Given the description of an element on the screen output the (x, y) to click on. 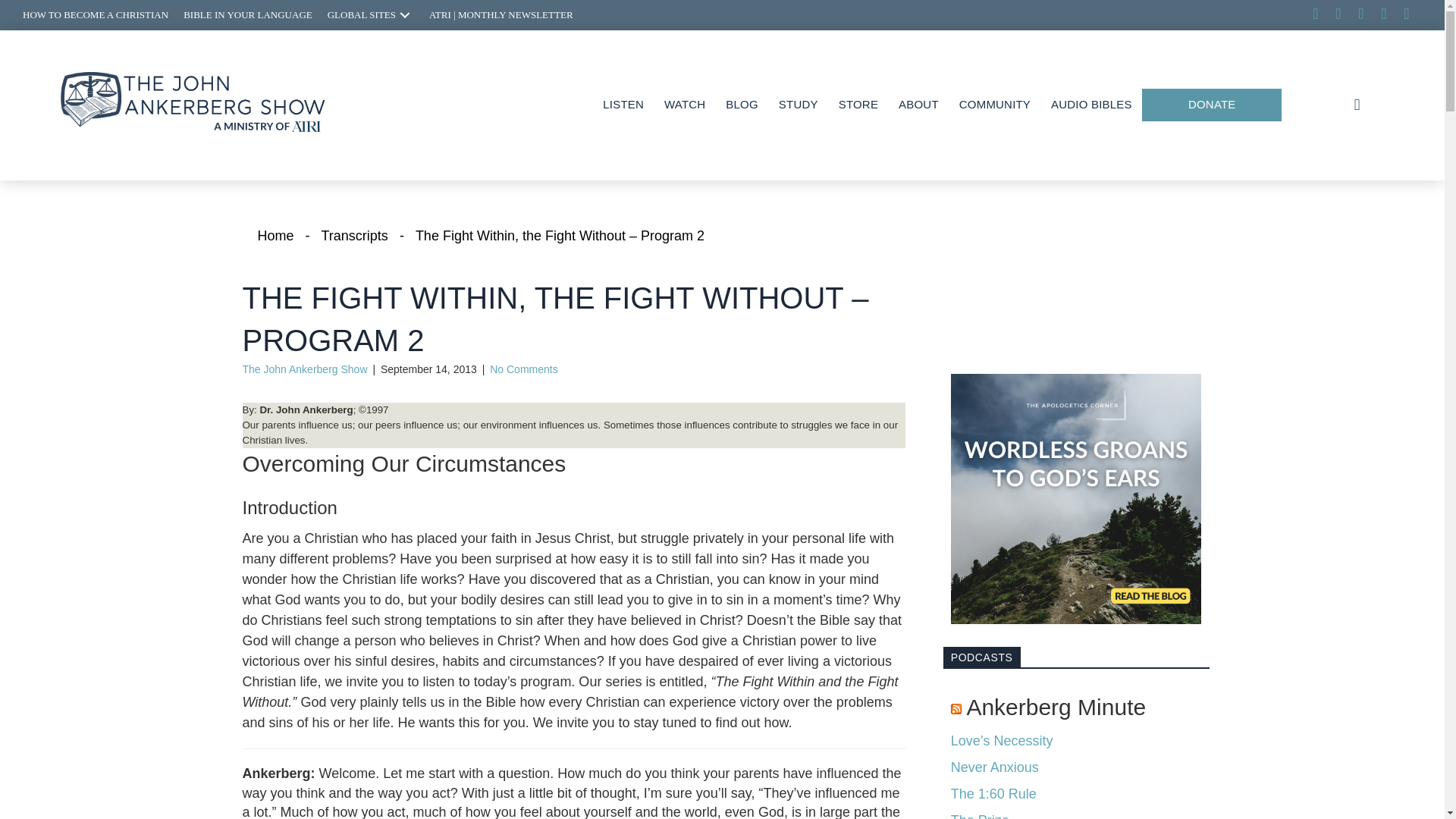
HOW TO BECOME A CHRISTIAN (95, 15)
WATCH (684, 104)
LISTEN (622, 104)
BIBLE IN YOUR LANGUAGE (248, 15)
GLOBAL SITES (371, 15)
